Given the description of an element on the screen output the (x, y) to click on. 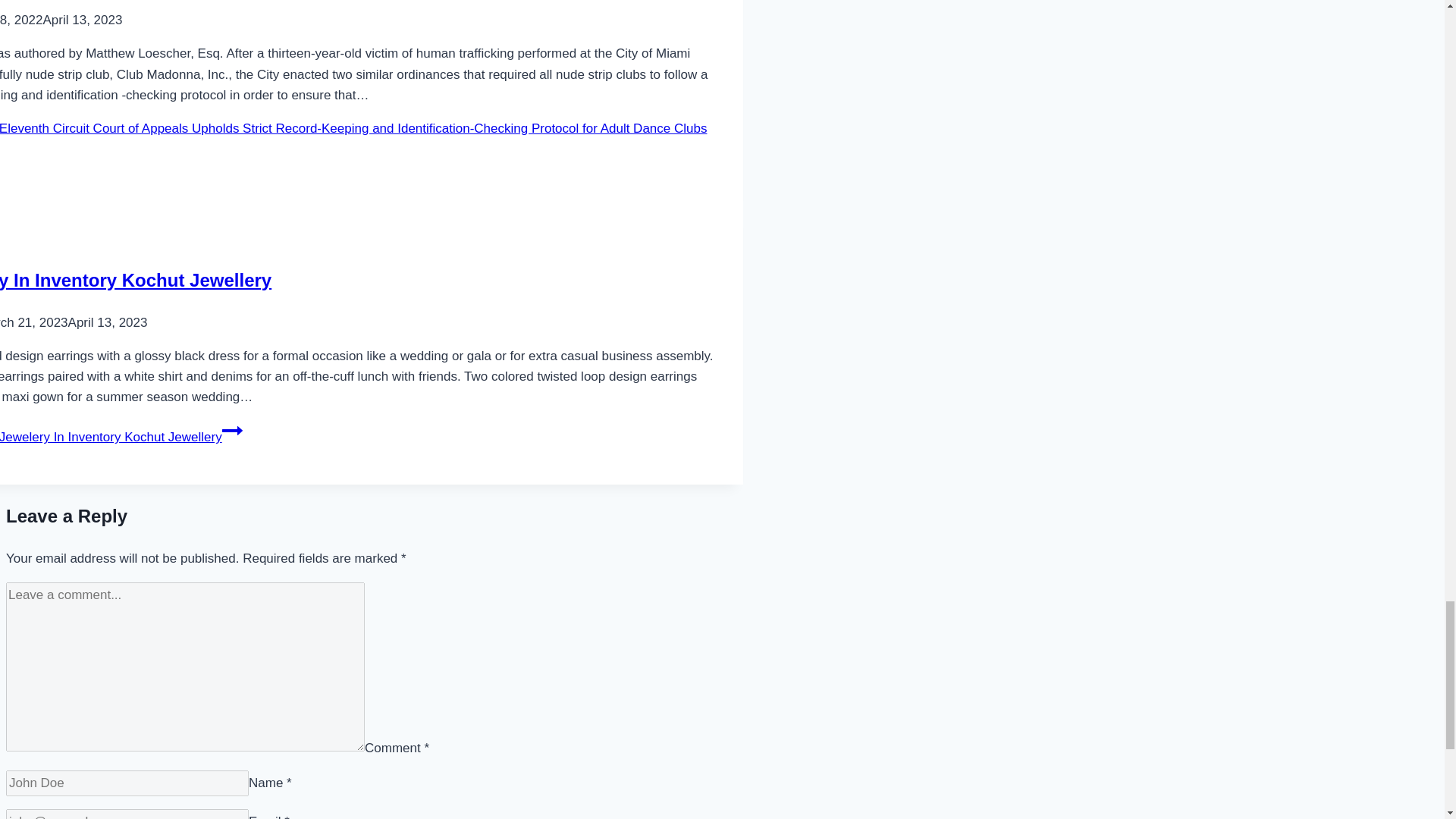
Jewelery In Inventory Kochut Jewellery (135, 280)
Read More Jewelery In Inventory Kochut JewelleryContinue (121, 436)
Continue (232, 430)
